Given the description of an element on the screen output the (x, y) to click on. 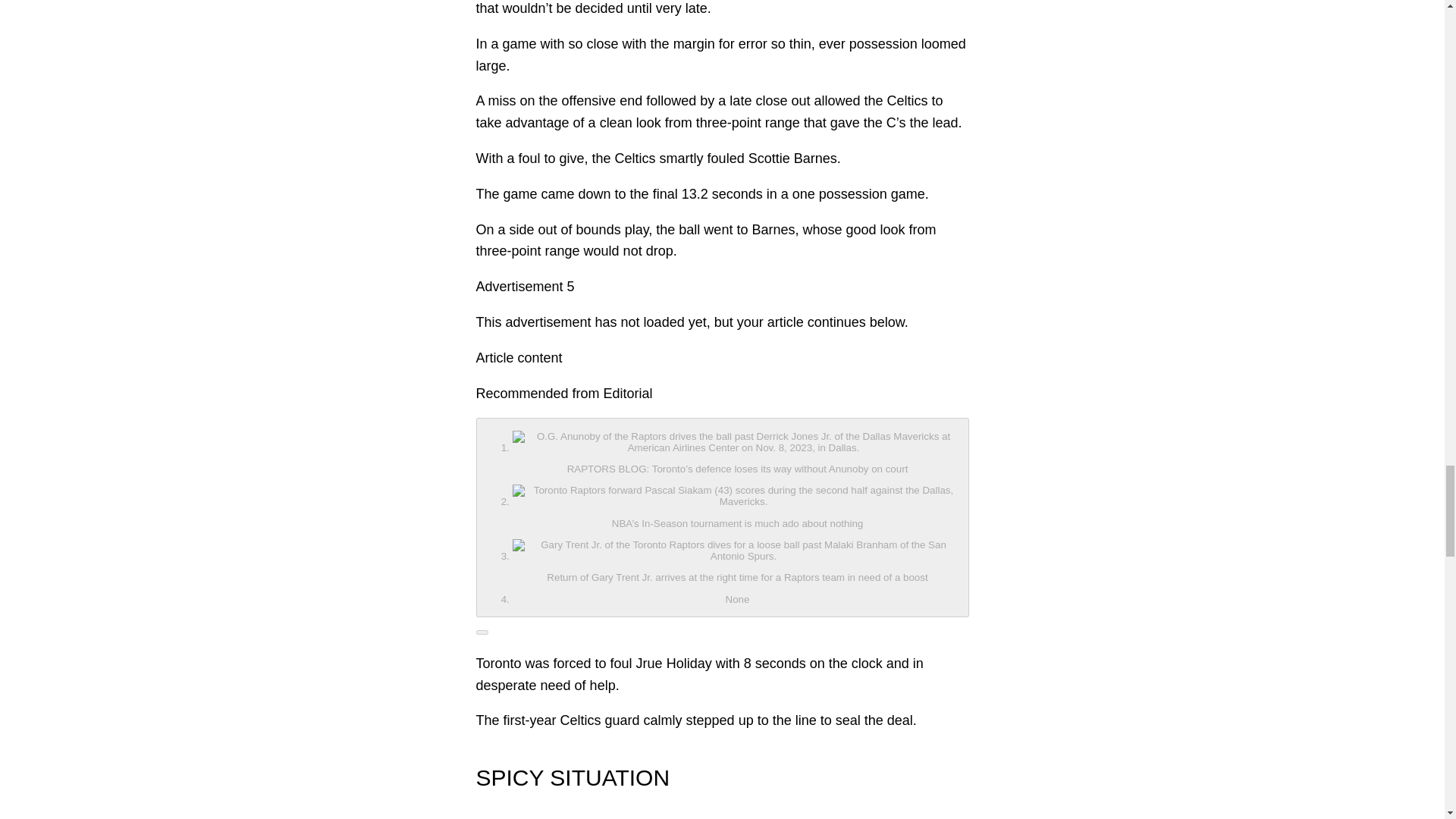
previous (722, 517)
next (481, 631)
